Given the description of an element on the screen output the (x, y) to click on. 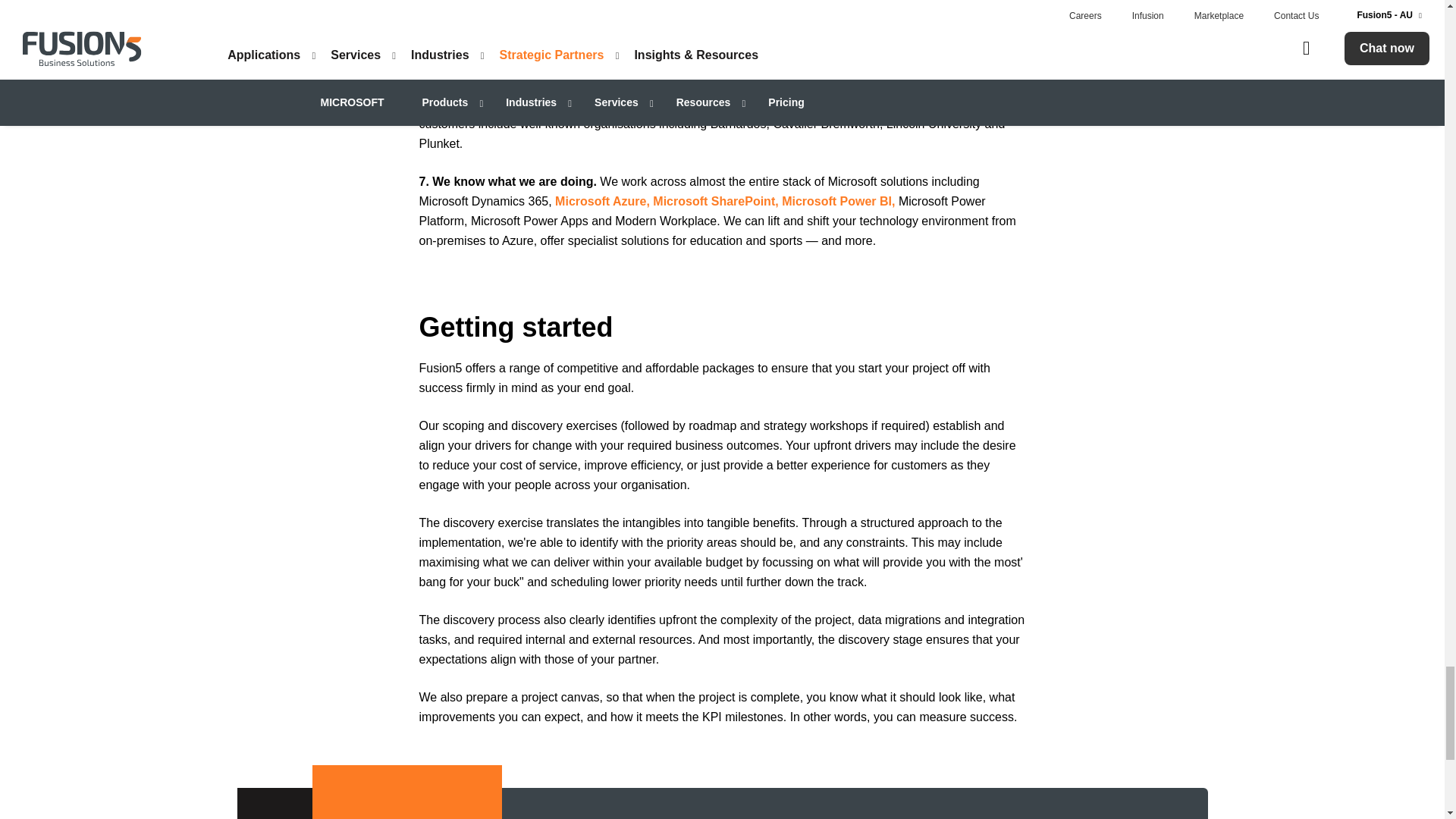
Power BI (838, 201)
Azure (601, 201)
Sharepoint (714, 201)
Licencing (868, 26)
